Given the description of an element on the screen output the (x, y) to click on. 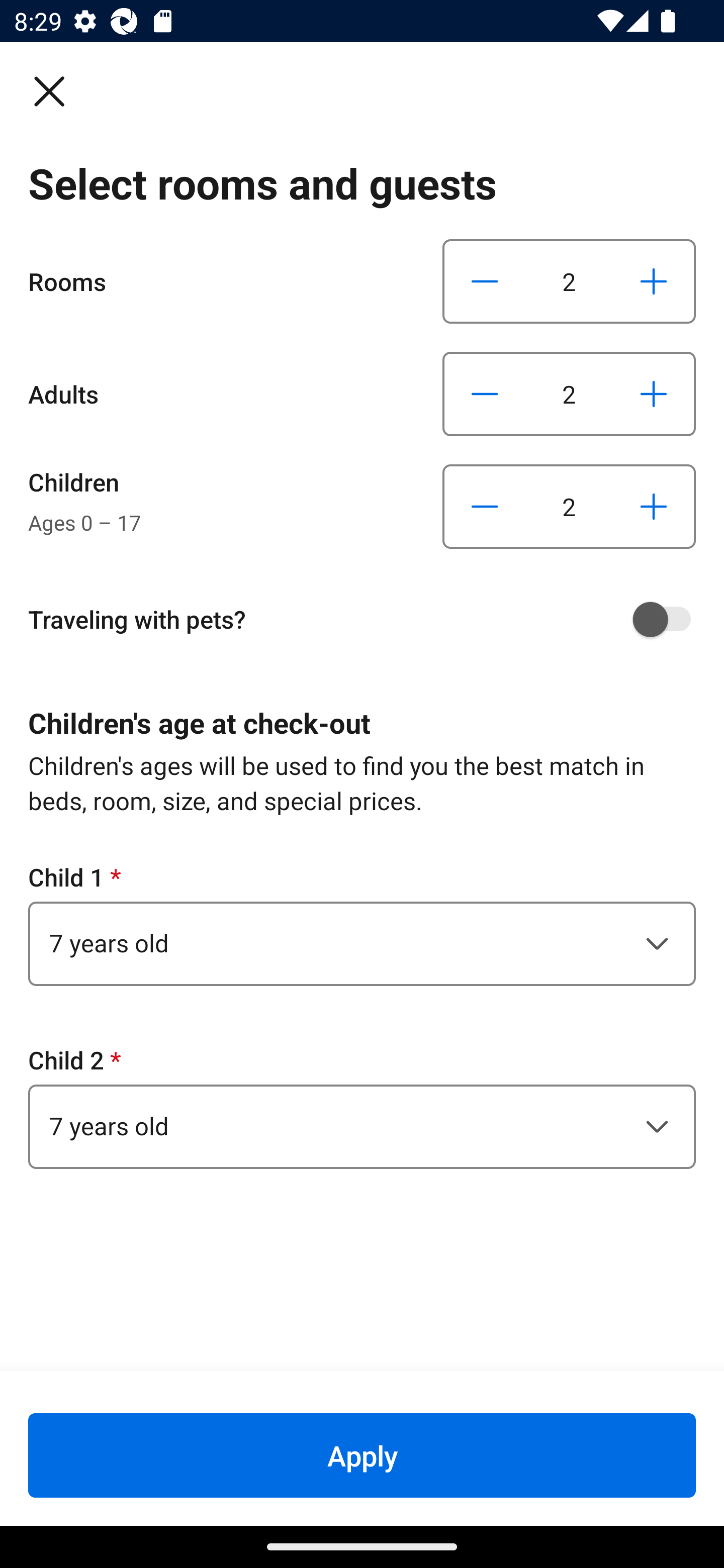
Decrease (484, 281)
Increase (653, 281)
Decrease (484, 393)
Increase (653, 393)
Decrease (484, 506)
Increase (653, 506)
Traveling with pets? (369, 619)
Child 1
required Child 1 * 7 years old (361, 922)
Child 2
required Child 2 * 7 years old (361, 1105)
Apply (361, 1454)
